Given the description of an element on the screen output the (x, y) to click on. 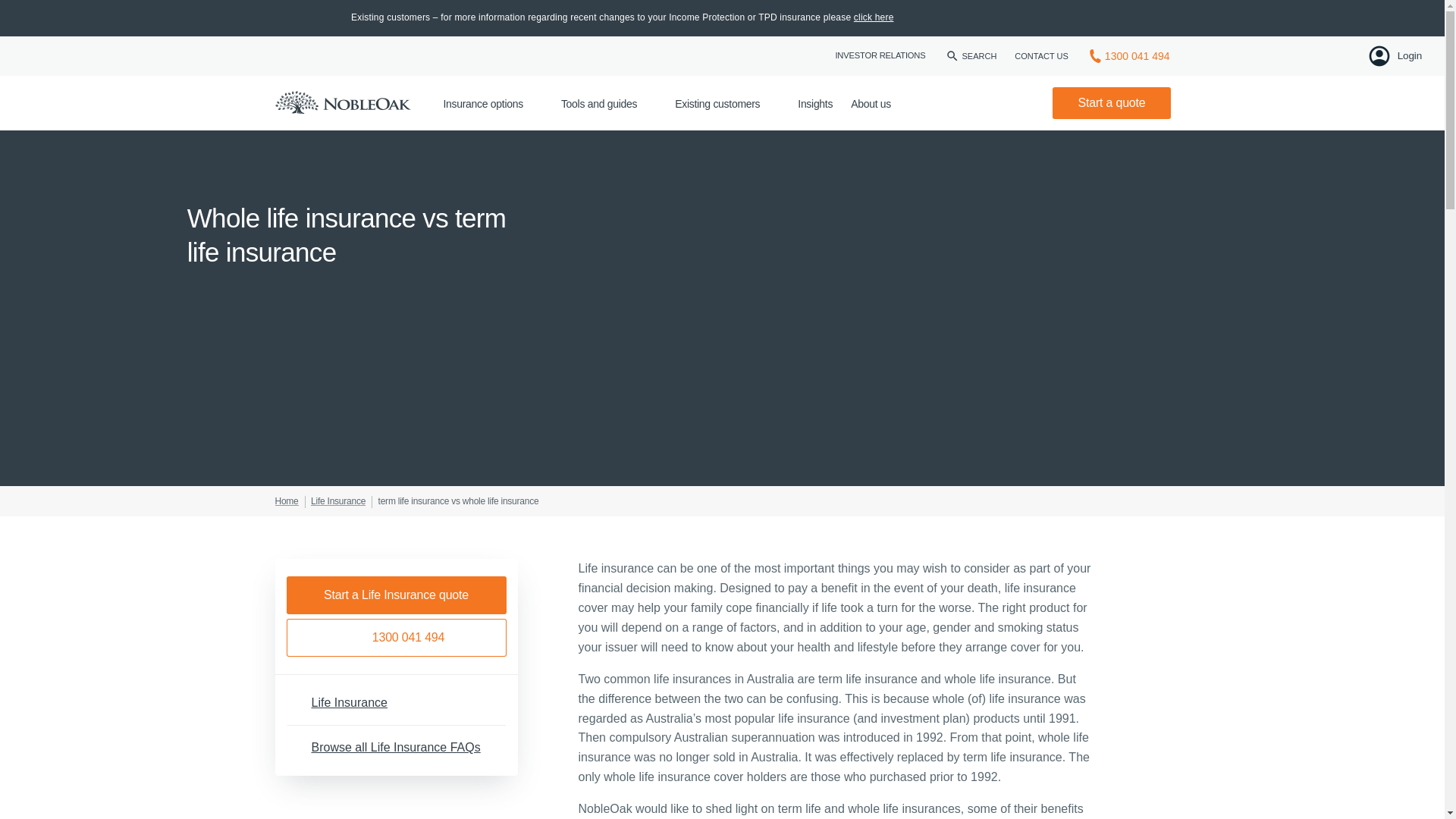
Login (1394, 55)
INVESTOR RELATIONS (879, 55)
CONTACT US (1041, 55)
Tools and guides (608, 103)
SEARCH (970, 56)
click here (873, 17)
Insurance options (491, 103)
1300 041 494 (1128, 55)
